Given the description of an element on the screen output the (x, y) to click on. 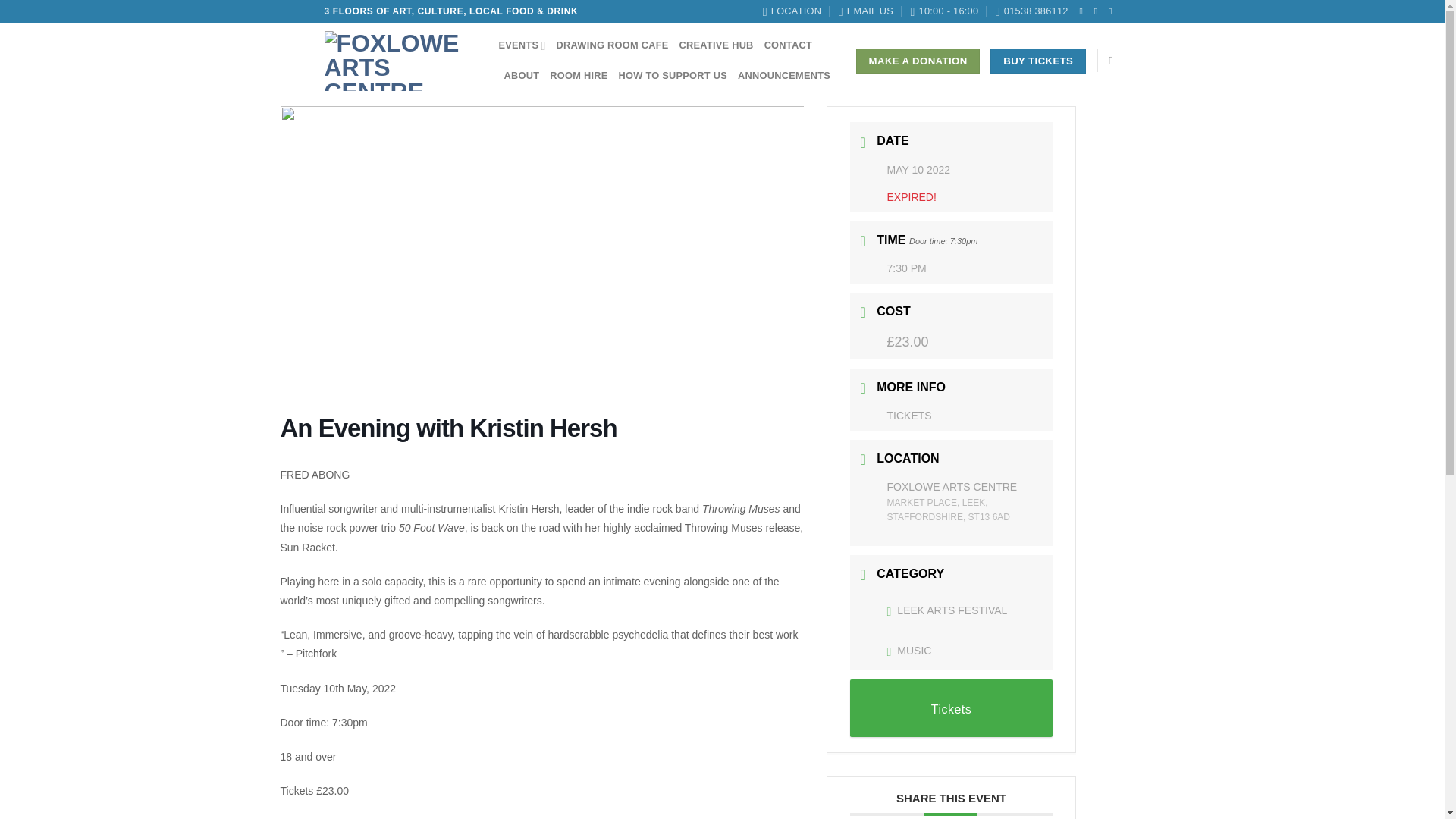
EVENTS (522, 45)
HOW TO SUPPORT US (672, 75)
BUY TICKETS (1038, 61)
ANNOUNCEMENTS (783, 75)
CONTACT (788, 45)
EMAIL US (865, 11)
LEEK ARTS FESTIVAL (946, 610)
01538 386112 (1031, 11)
10:00 - 16:00 (944, 11)
Tickets (950, 708)
